Given the description of an element on the screen output the (x, y) to click on. 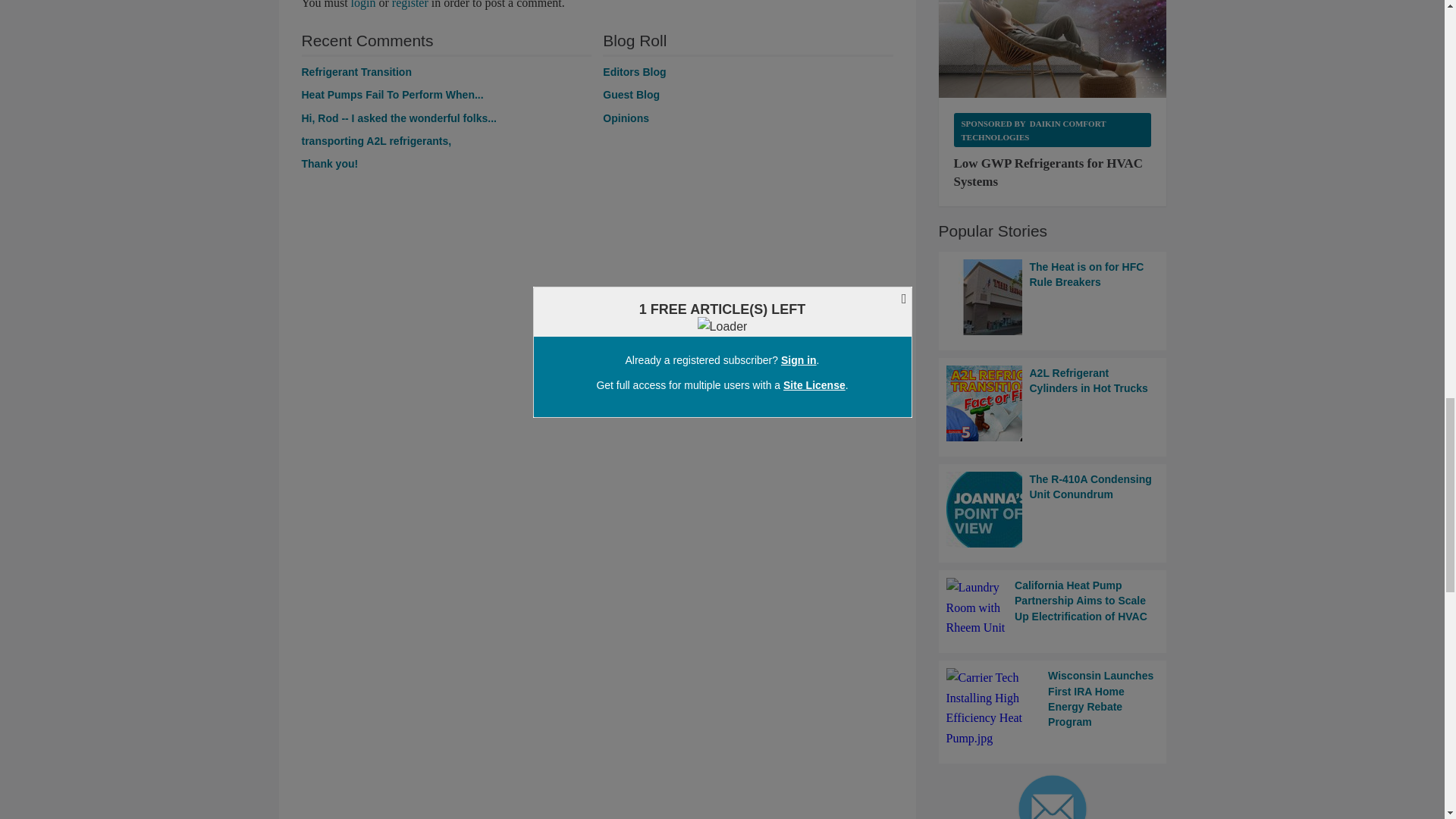
Homeowners Views on HVAC Go Public (329, 163)
The R-410A Condensing Unit Conundrum (1052, 509)
Opinions (625, 118)
Refrigerant Transition Takes a Big Step in 2025 (356, 71)
Are HVAC Contractors Getting the Message on Heat Pumps? (392, 94)
Sponsored by Daikin Comfort Technologies (1052, 130)
Wisconsin Launches First IRA Home Energy Rebate Program (1052, 708)
Editors Blog (633, 71)
A2L Refrigerant Cylinders in Hot Trucks (1052, 403)
